Given the description of an element on the screen output the (x, y) to click on. 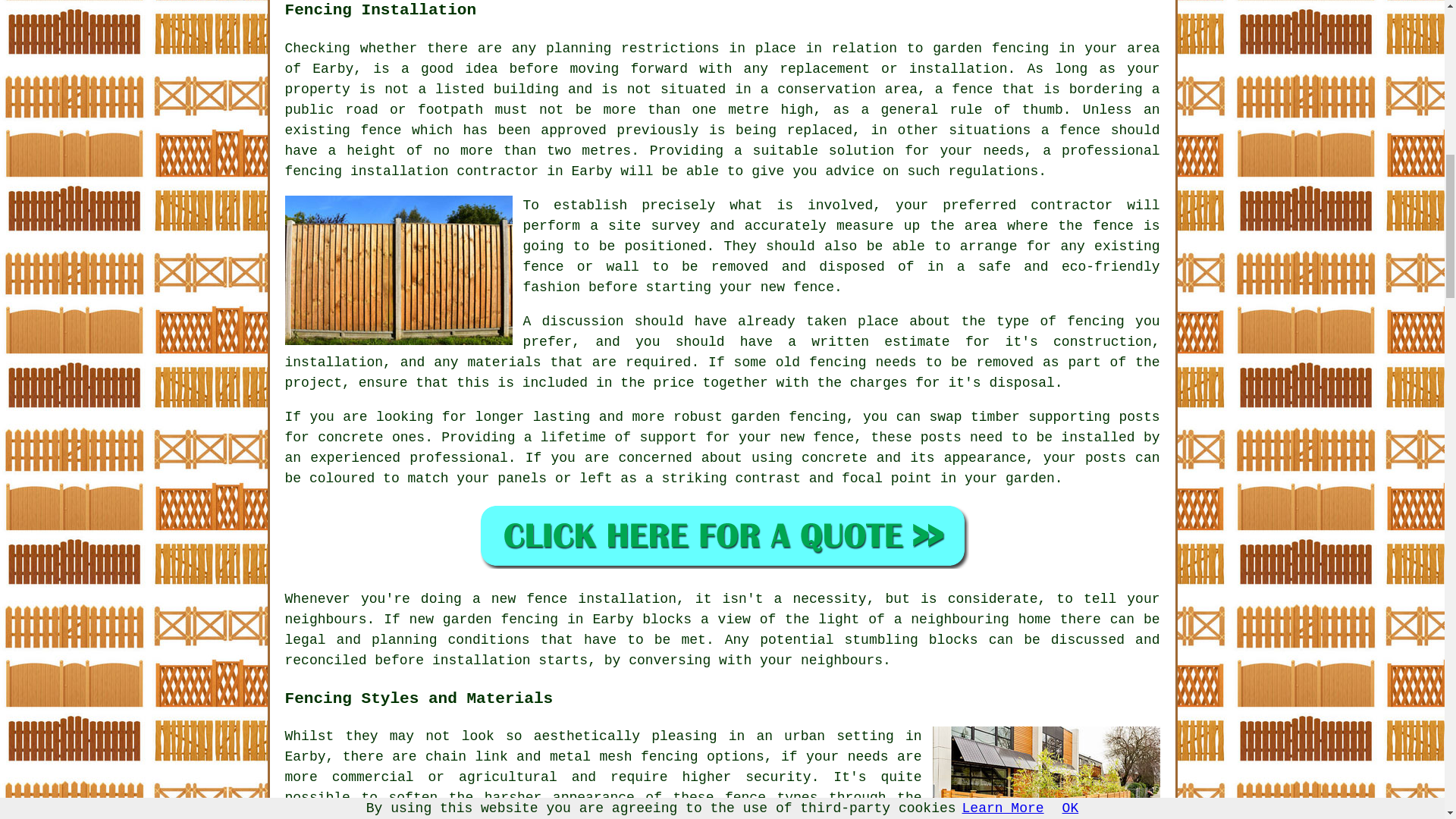
Garden Fencing Near Earby Lancashire (1046, 772)
fencing (1020, 48)
Garden Fencing Quotes in Earby Lancashire (722, 535)
